Given the description of an element on the screen output the (x, y) to click on. 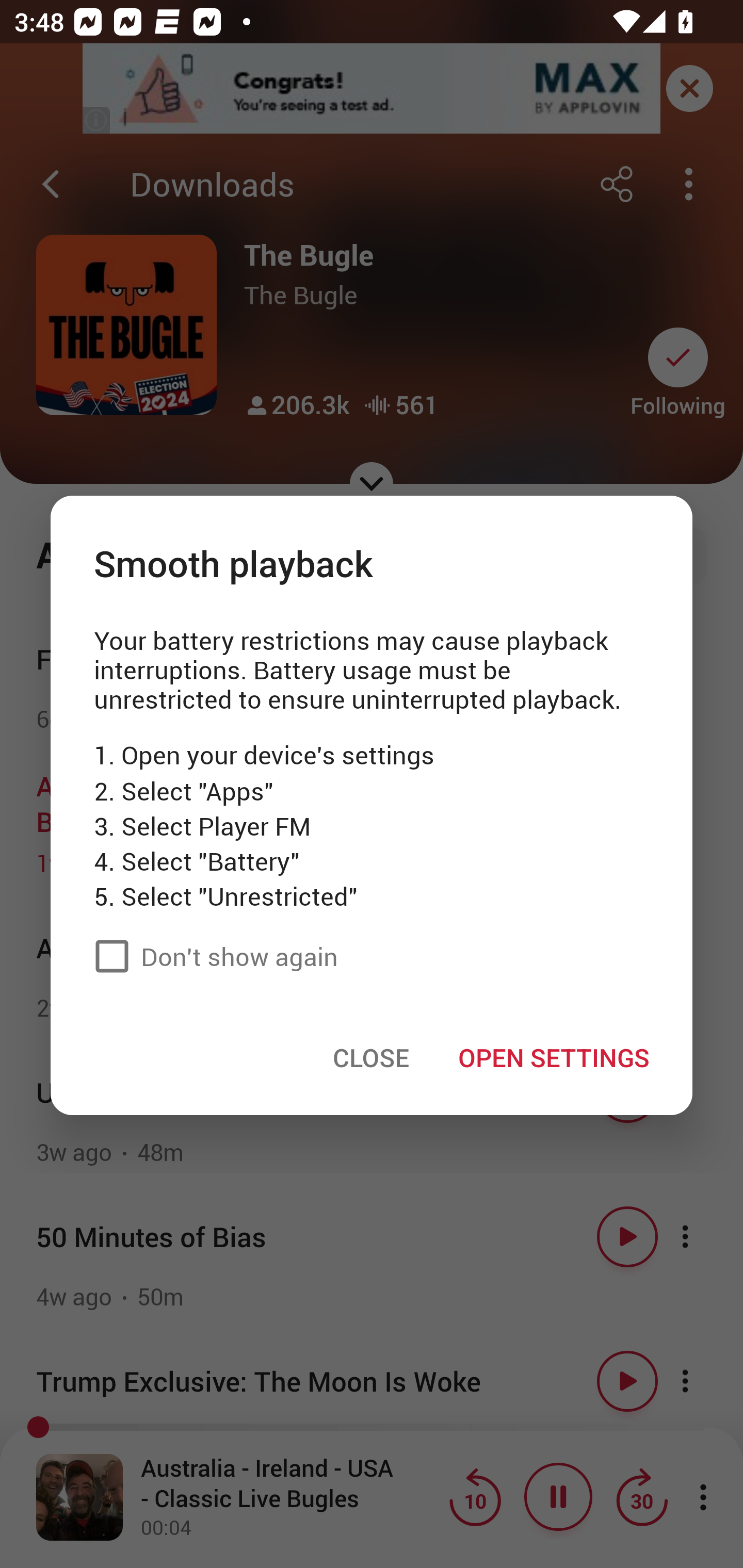
Don't show again (210, 955)
CLOSE (371, 1057)
OPEN SETTINGS (553, 1057)
